Given the description of an element on the screen output the (x, y) to click on. 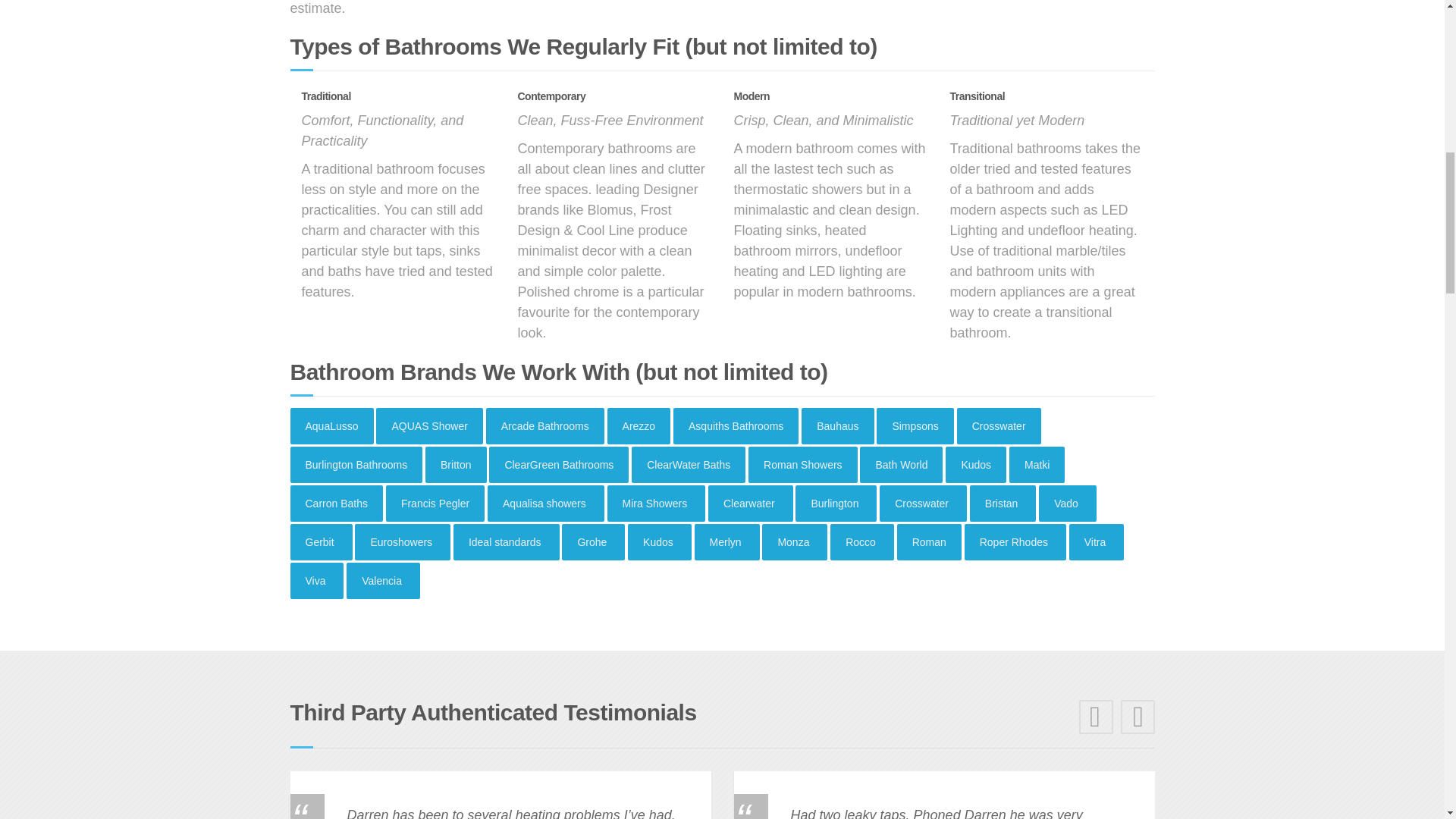
Asquiths Bathrooms (734, 425)
Roman Showers (802, 464)
Kudos (975, 464)
Simpsons (914, 425)
Aqualisa showers  (545, 503)
Arcade Bathrooms (545, 425)
Burlington Bathrooms (355, 464)
Bath World (901, 464)
AQUAS Shower (428, 425)
Bauhaus (837, 425)
Matki (1036, 464)
Arezzo (639, 425)
ClearGreen Bathrooms (558, 464)
AquaLusso (330, 425)
Britton (455, 464)
